Given the description of an element on the screen output the (x, y) to click on. 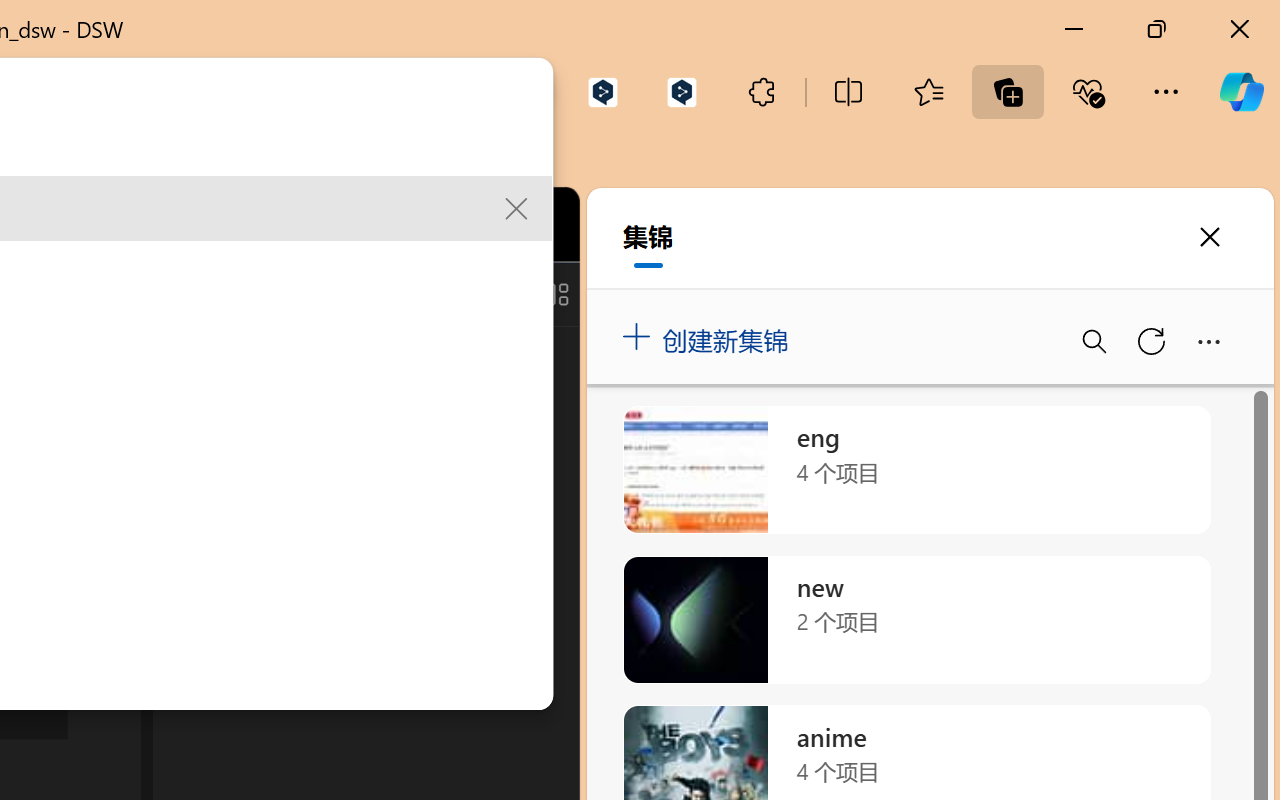
Toggle Panel (Ctrl+J) (461, 294)
Title actions (484, 294)
Toggle Primary Side Bar (Ctrl+B) (413, 294)
Class: next-menu next-hoz widgets--iconMenu--BFkiHRM (436, 225)
